Given the description of an element on the screen output the (x, y) to click on. 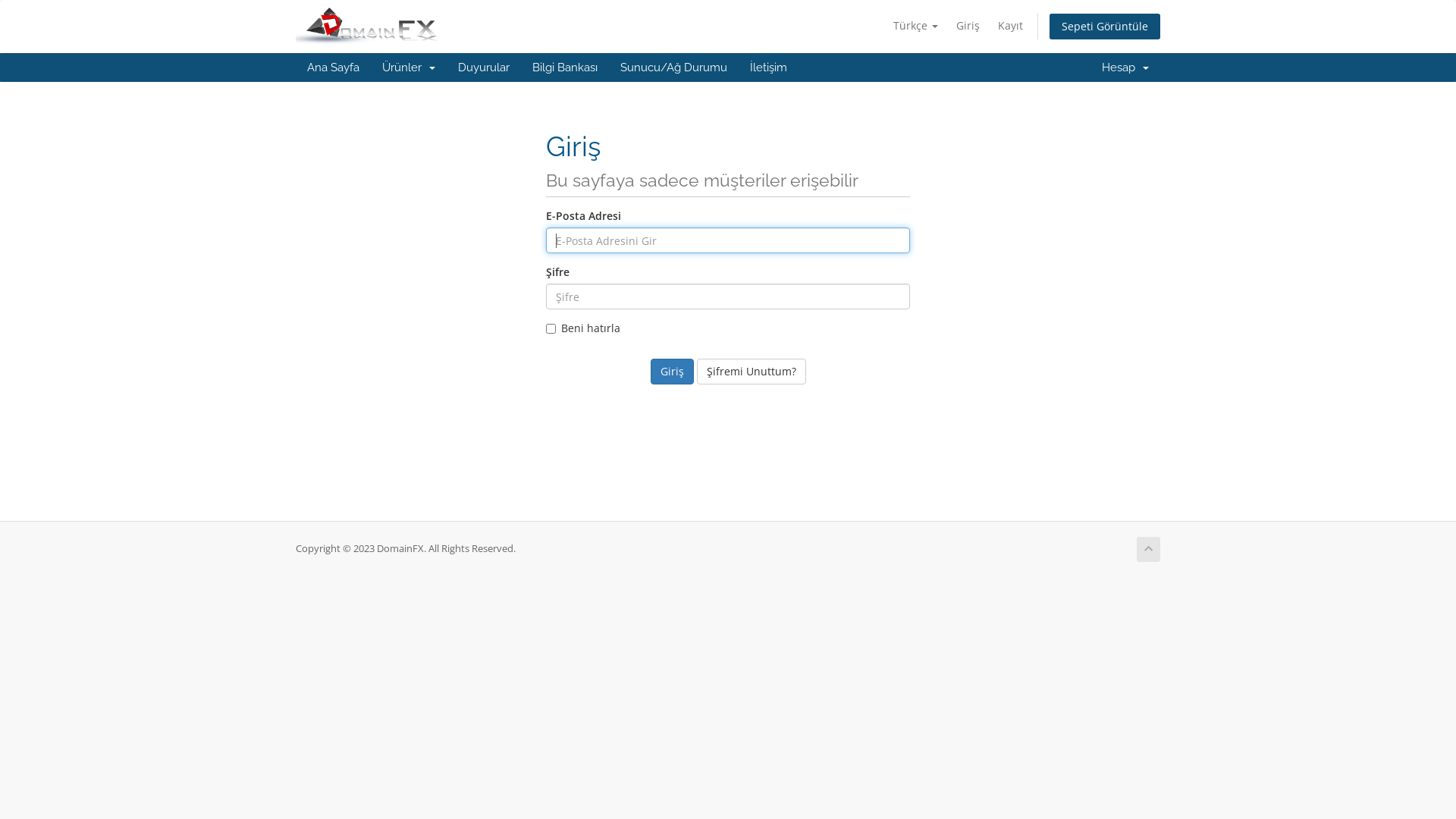
Hesap   Element type: text (1125, 67)
Duyurular Element type: text (483, 67)
Ana Sayfa Element type: text (332, 67)
